Given the description of an element on the screen output the (x, y) to click on. 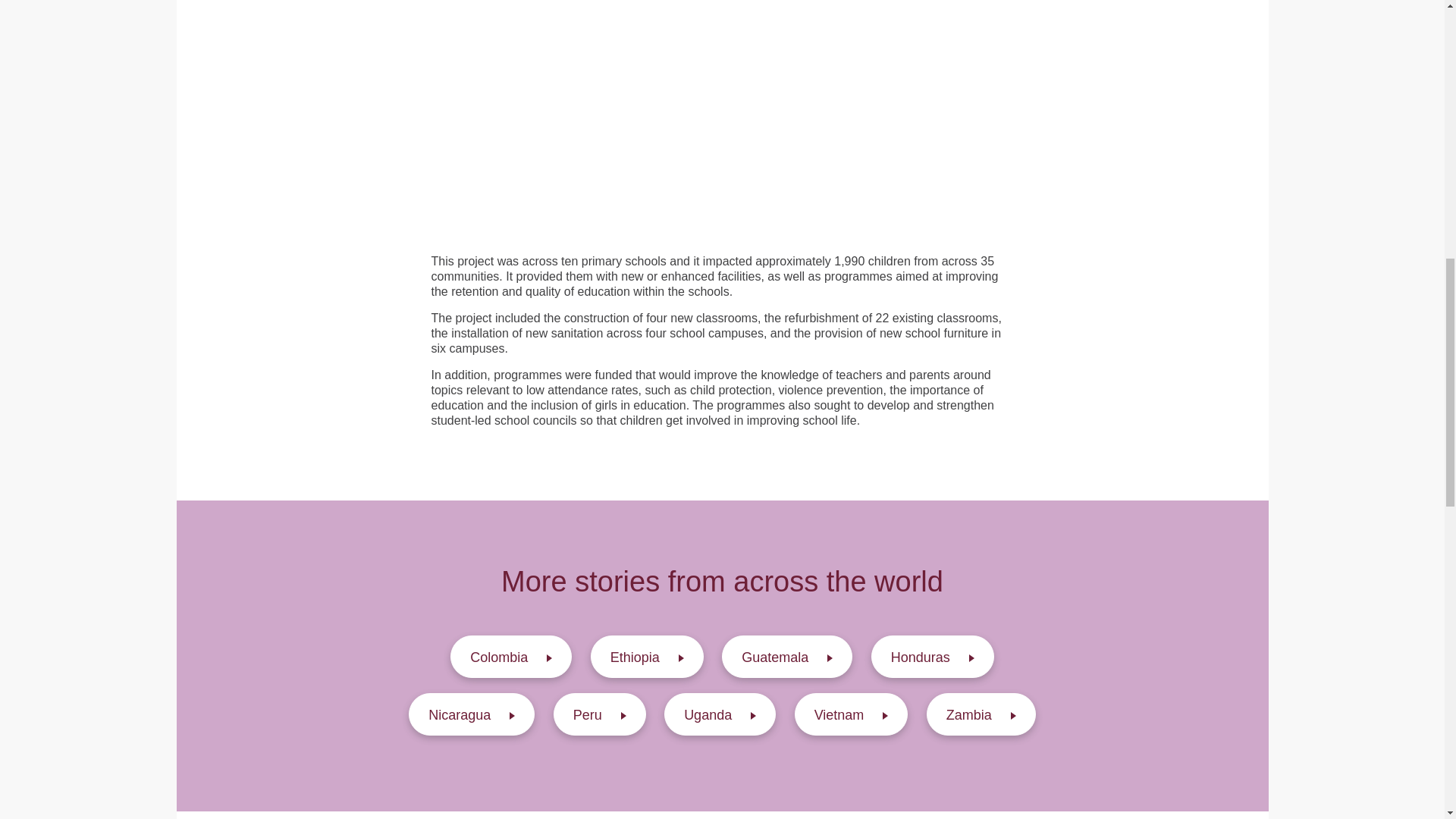
Guatemala (786, 656)
Vietnam (851, 713)
Nicaragua (471, 713)
Zambia (980, 713)
Uganda (719, 713)
Honduras (932, 656)
Ethiopia (647, 656)
Peru (599, 713)
Colombia (510, 656)
